Given the description of an element on the screen output the (x, y) to click on. 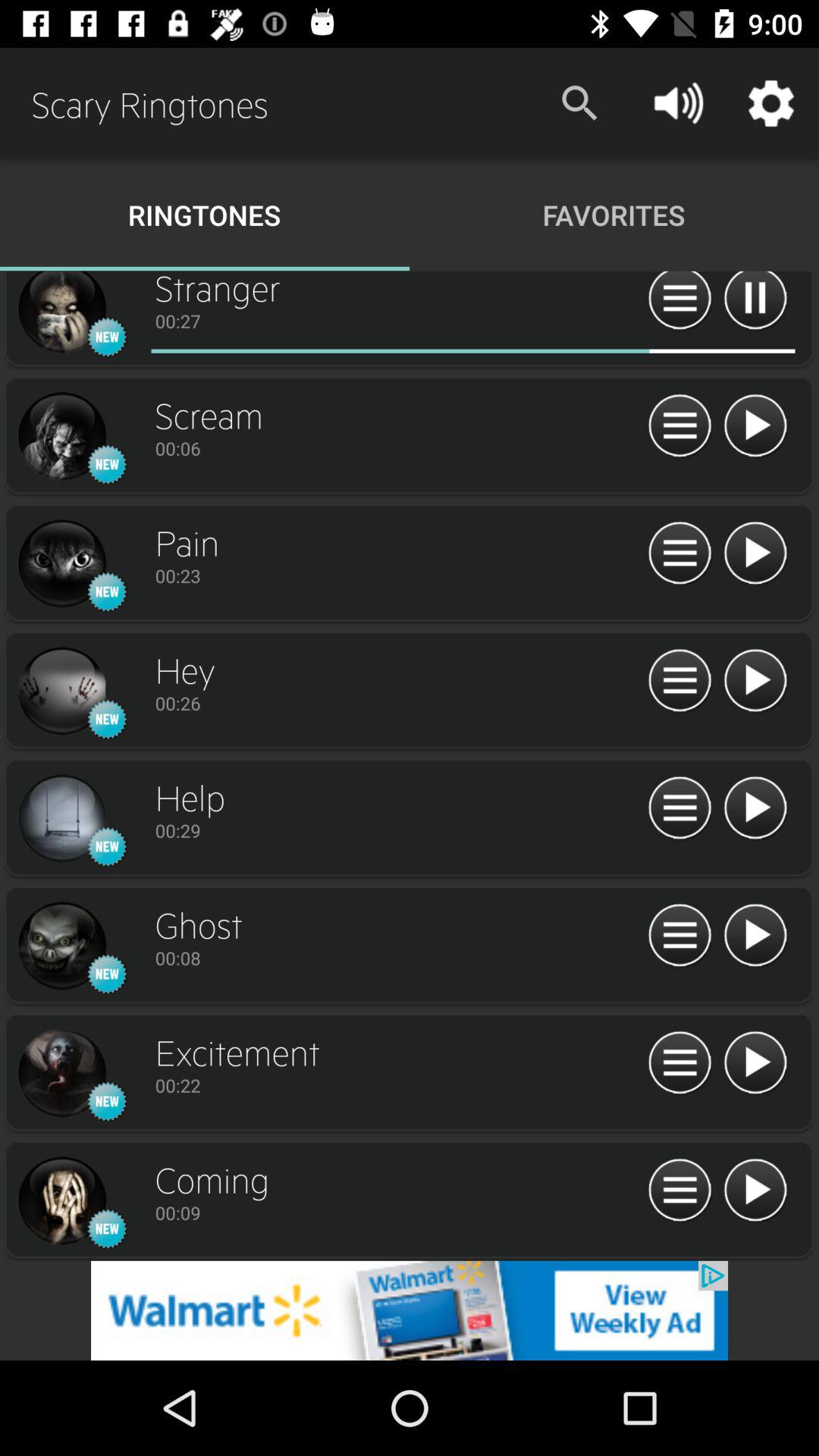
options (679, 1063)
